Given the description of an element on the screen output the (x, y) to click on. 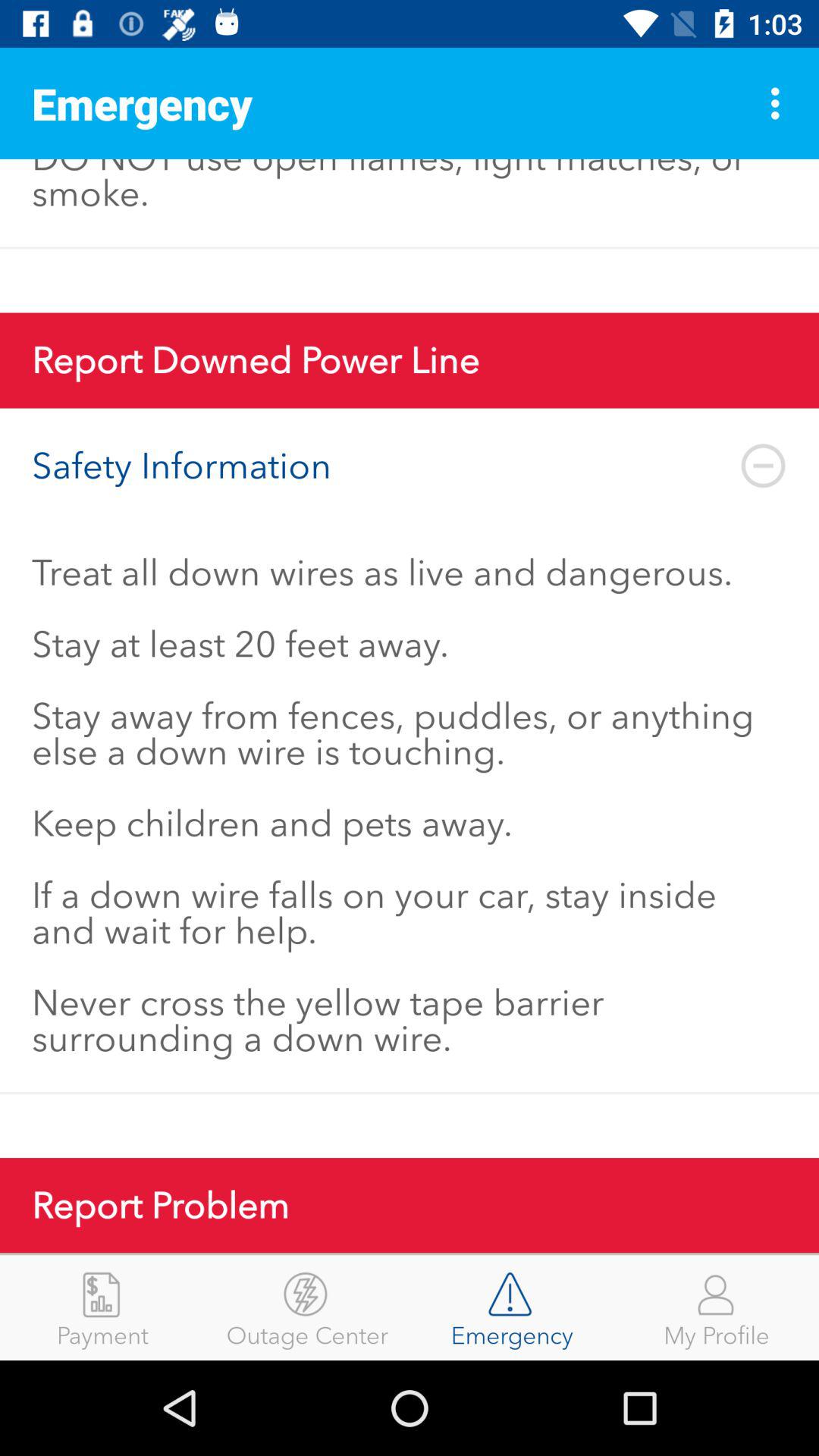
tap my profile icon (716, 1307)
